Given the description of an element on the screen output the (x, y) to click on. 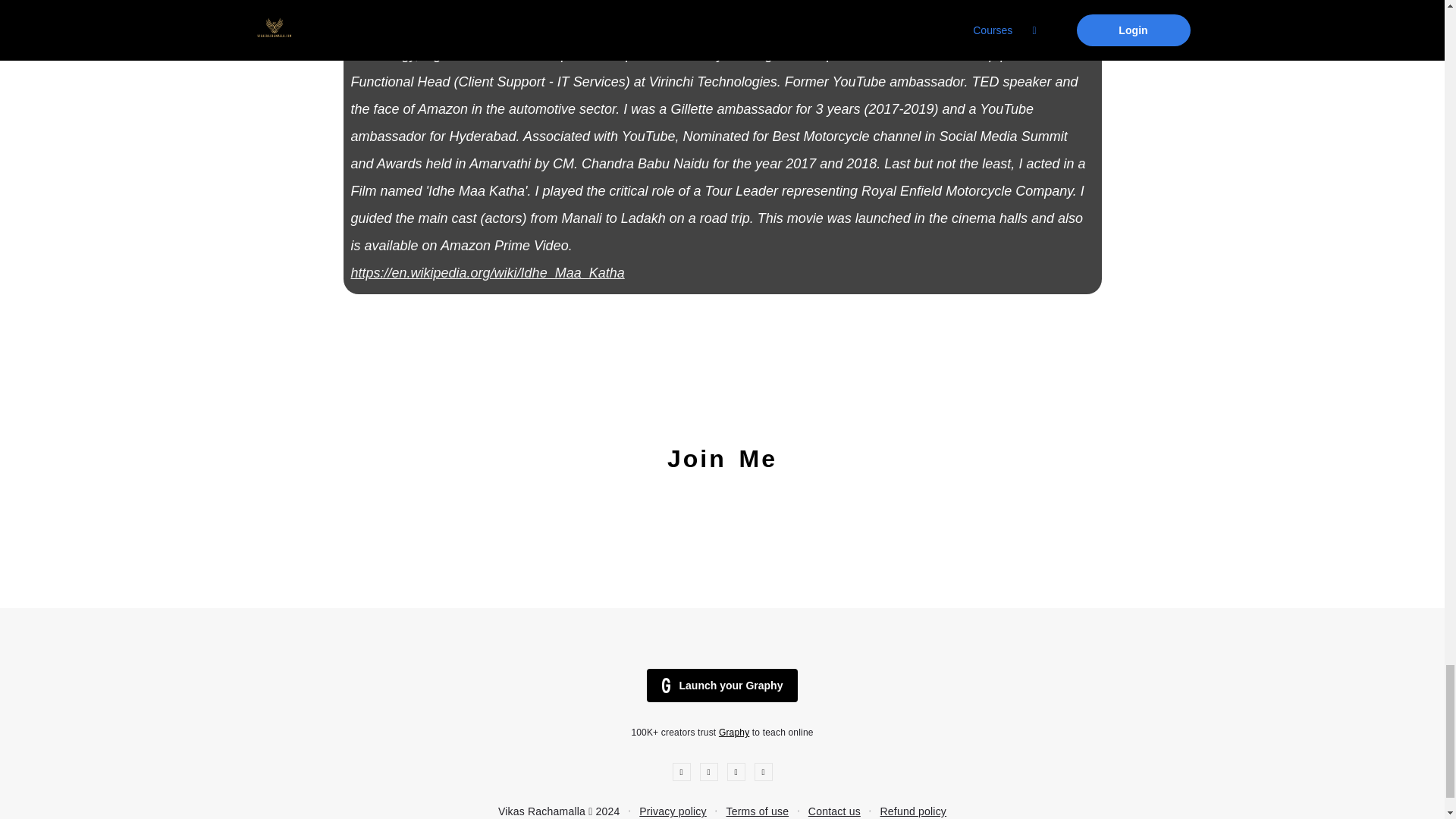
Graphy (734, 732)
Launch your Graphy (721, 685)
